Given the description of an element on the screen output the (x, y) to click on. 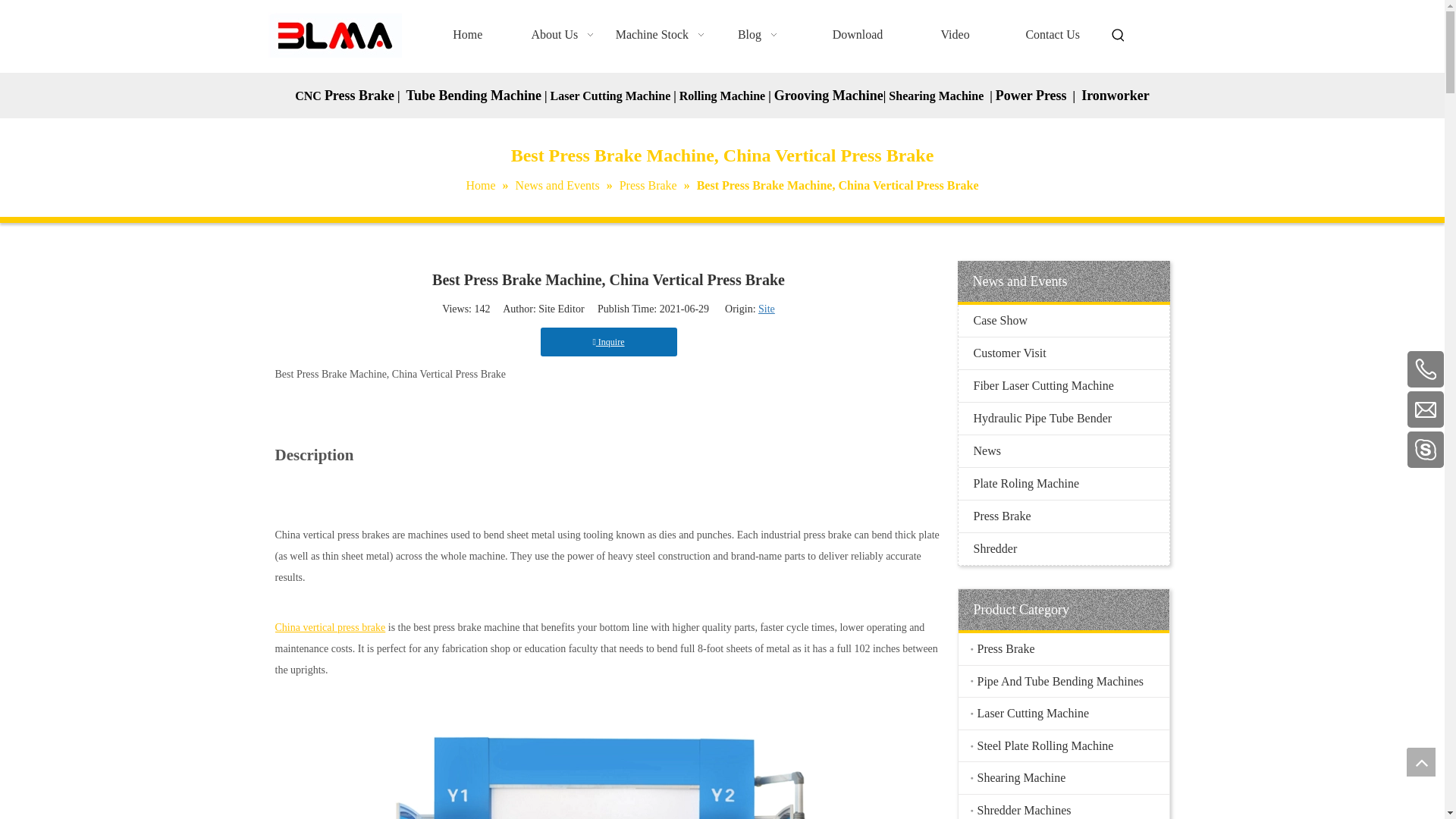
Ironworker (1115, 95)
Tube Bending Machine (473, 95)
About Us   (565, 34)
Machine Stock   (662, 34)
Grooving Machine (828, 95)
Home (467, 34)
Video (954, 34)
Contact Us (1053, 34)
Power Press (1031, 95)
blma-logo (333, 34)
